Given the description of an element on the screen output the (x, y) to click on. 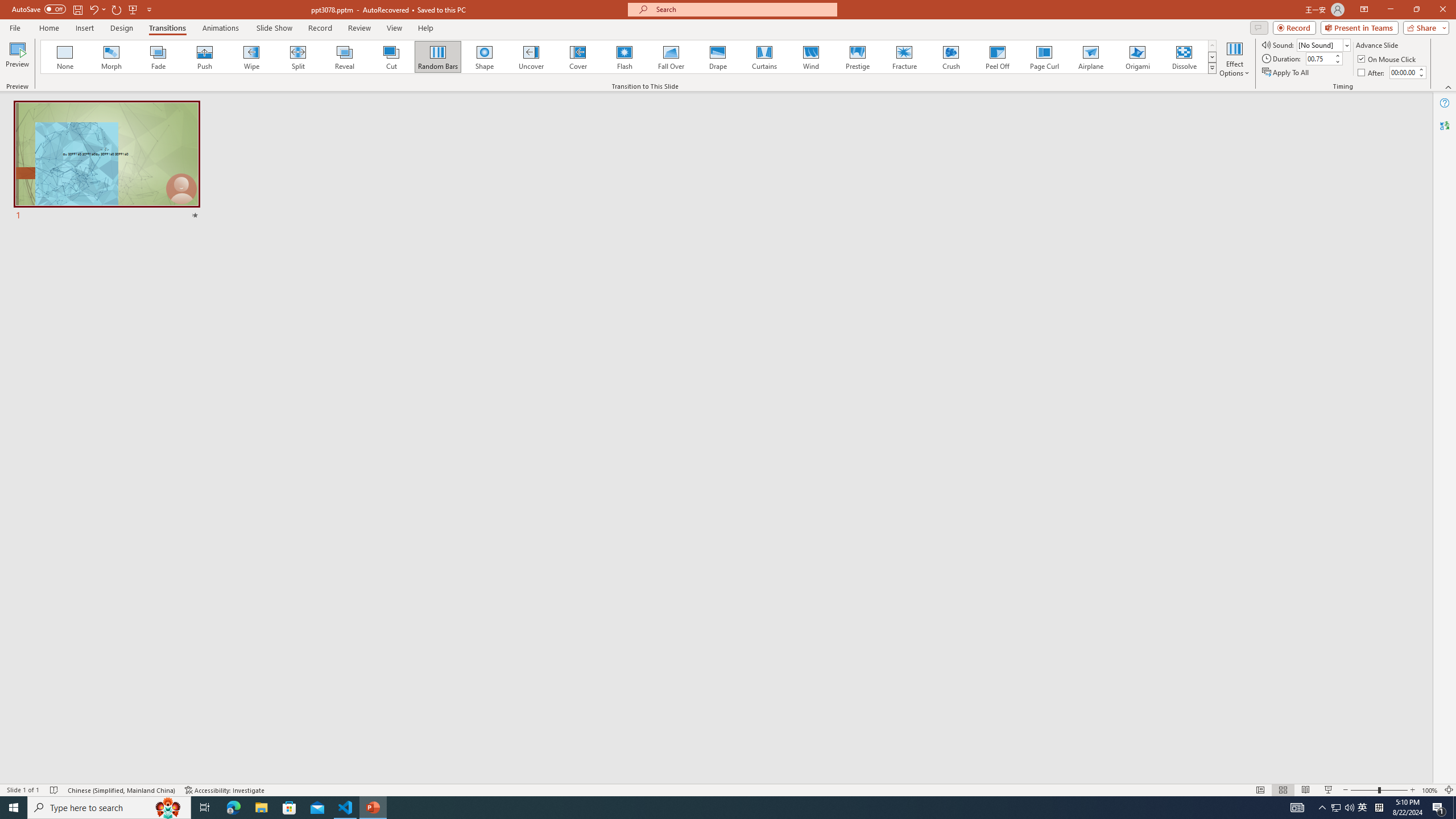
Effect Options (1234, 58)
Peel Off (997, 56)
On Mouse Click (1387, 58)
Curtains (764, 56)
Airplane (1090, 56)
After (1372, 72)
